Given the description of an element on the screen output the (x, y) to click on. 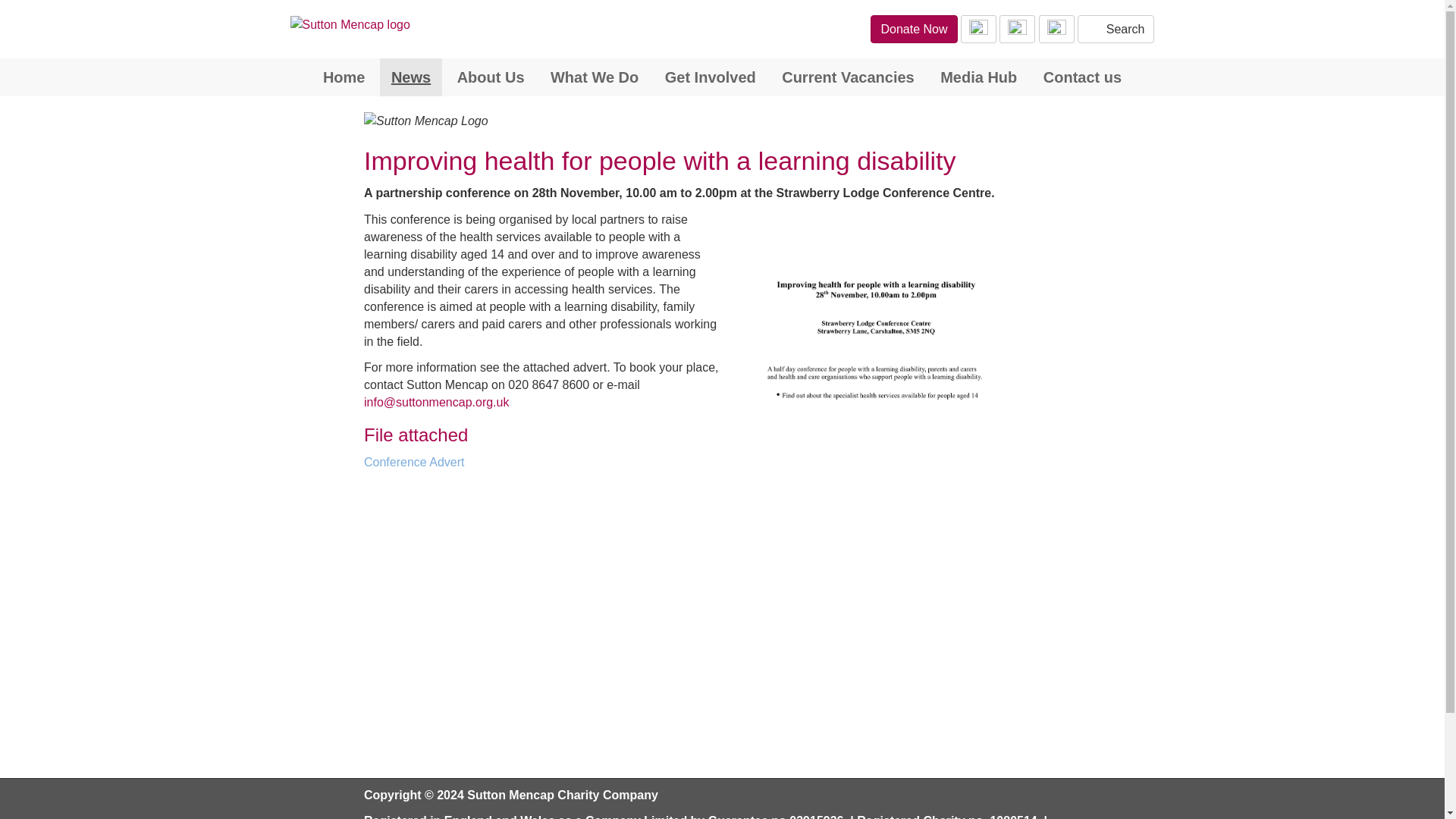
What We Do (593, 77)
Media Hub (977, 77)
Donate Now (913, 29)
Home (344, 77)
Conference Advert (901, 462)
Get Involved (710, 77)
Current Vacancies (848, 77)
Search (1115, 29)
News (411, 77)
About Us (490, 77)
Contact us (1082, 77)
